Given the description of an element on the screen output the (x, y) to click on. 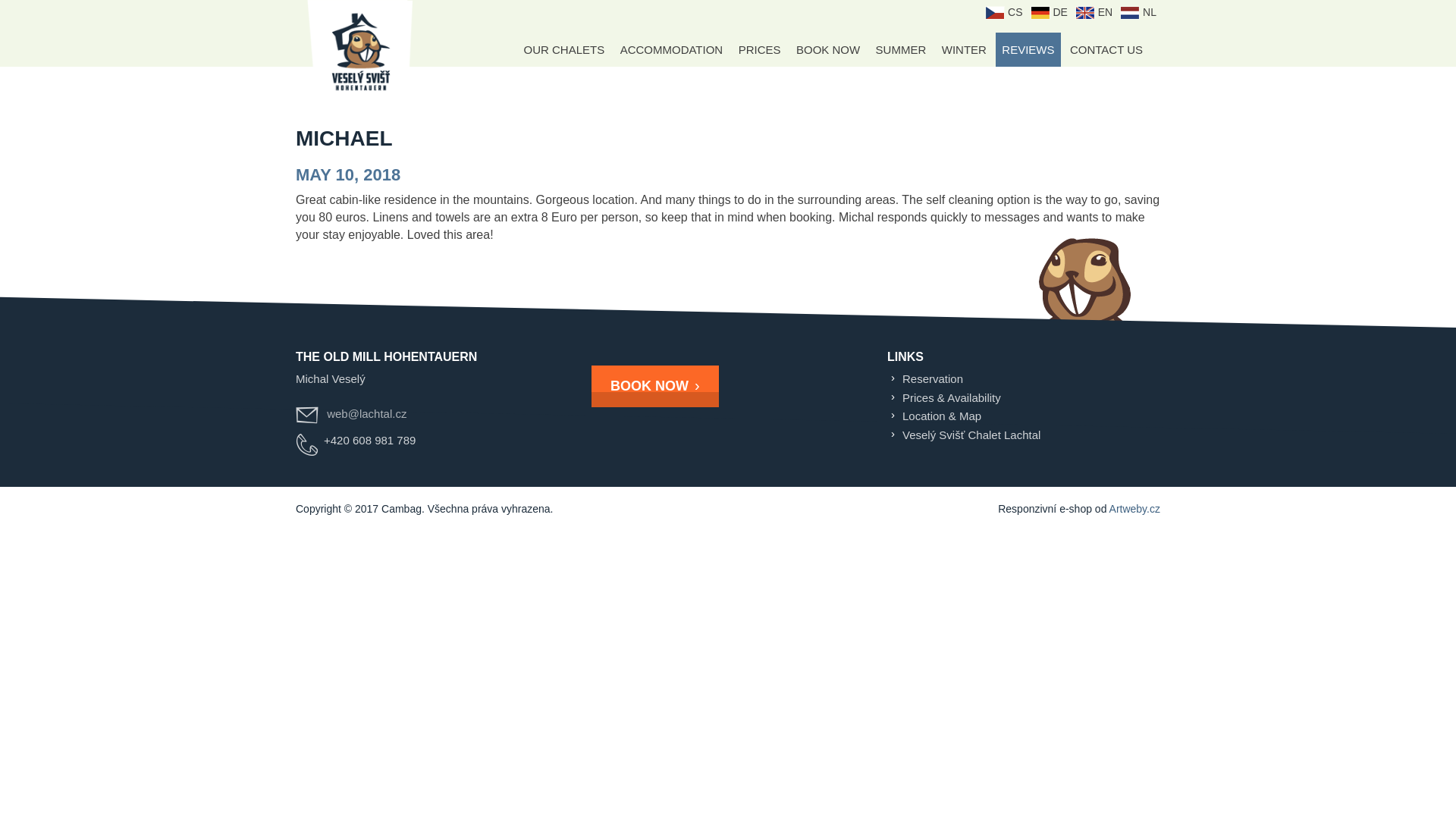
EN (1093, 11)
ACCOMMODATION (671, 49)
OUR CHALETS (563, 49)
Reservation (932, 378)
BOOK NOW (655, 386)
BOOK NOW (828, 49)
PRICES (759, 49)
REVIEWS (1027, 49)
CS (1003, 11)
WINTER (964, 49)
DE (1048, 11)
CONTACT US (1106, 49)
NL (1137, 11)
Artweby.cz (1134, 508)
SUMMER (901, 49)
